Given the description of an element on the screen output the (x, y) to click on. 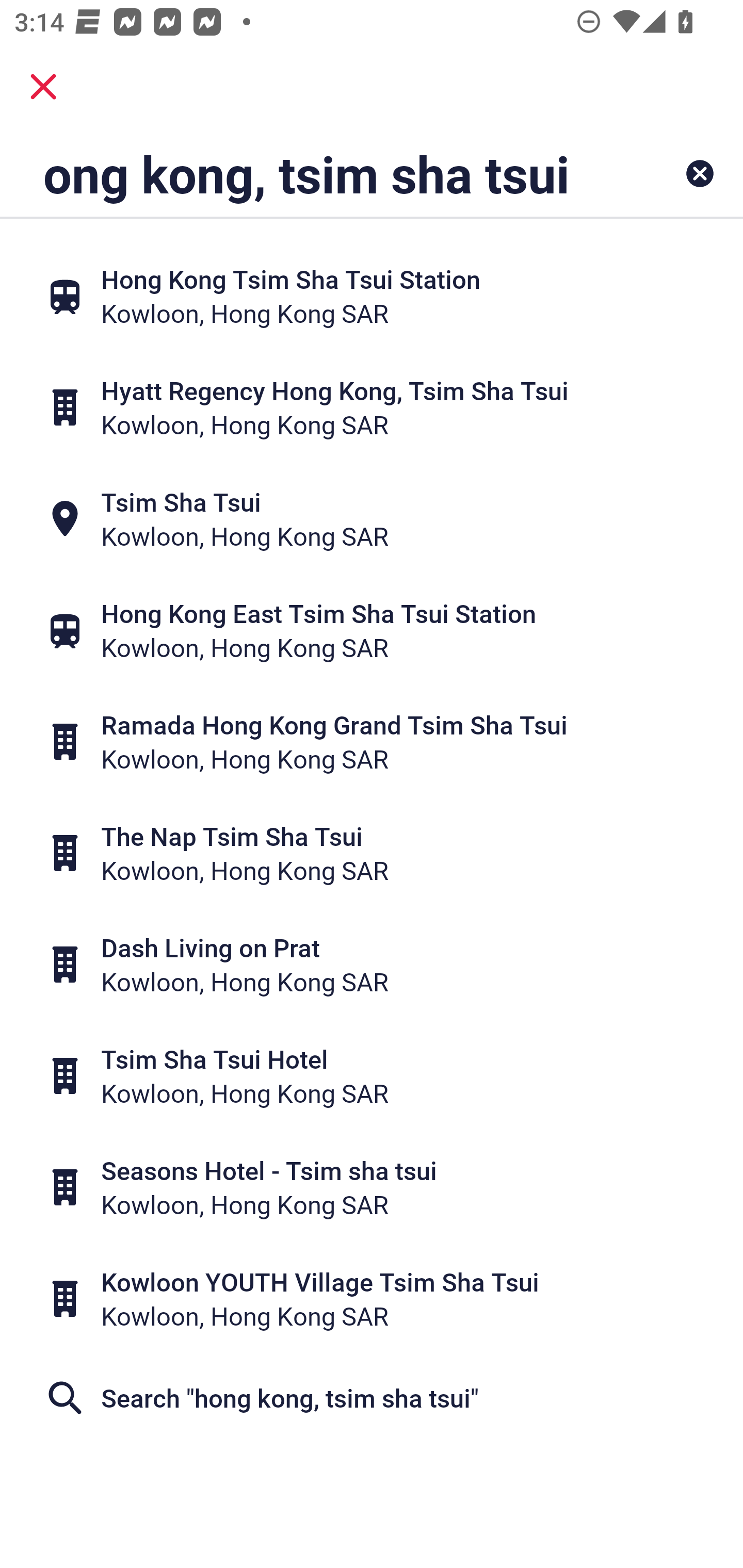
close. (43, 86)
Clear (699, 173)
hong kong, tsim sha tsui (306, 173)
Tsim Sha Tsui Kowloon, Hong Kong SAR (371, 517)
The Nap Tsim Sha Tsui Kowloon, Hong Kong SAR (371, 853)
Dash Living on Prat Kowloon, Hong Kong SAR (371, 964)
Tsim Sha Tsui Hotel Kowloon, Hong Kong SAR (371, 1076)
Search "hong kong, tsim sha tsui" (371, 1397)
